Given the description of an element on the screen output the (x, y) to click on. 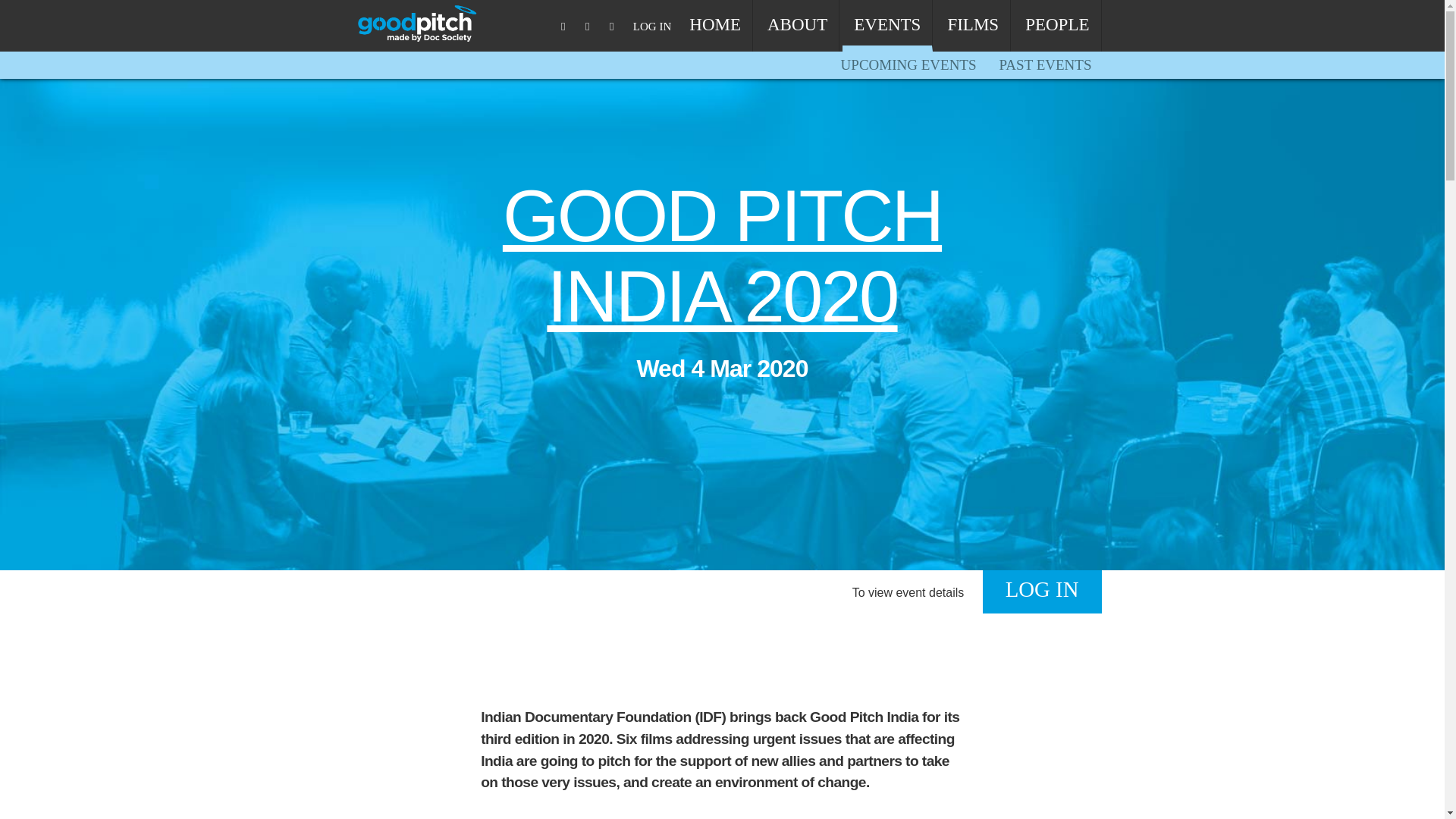
ABOUT (797, 25)
LOG IN (650, 27)
UPCOMING EVENTS (908, 64)
EVENTS (888, 25)
HOME (715, 25)
LOG IN (1042, 591)
PAST EVENTS (1046, 64)
FILMS (973, 25)
PEOPLE (1056, 25)
